Given the description of an element on the screen output the (x, y) to click on. 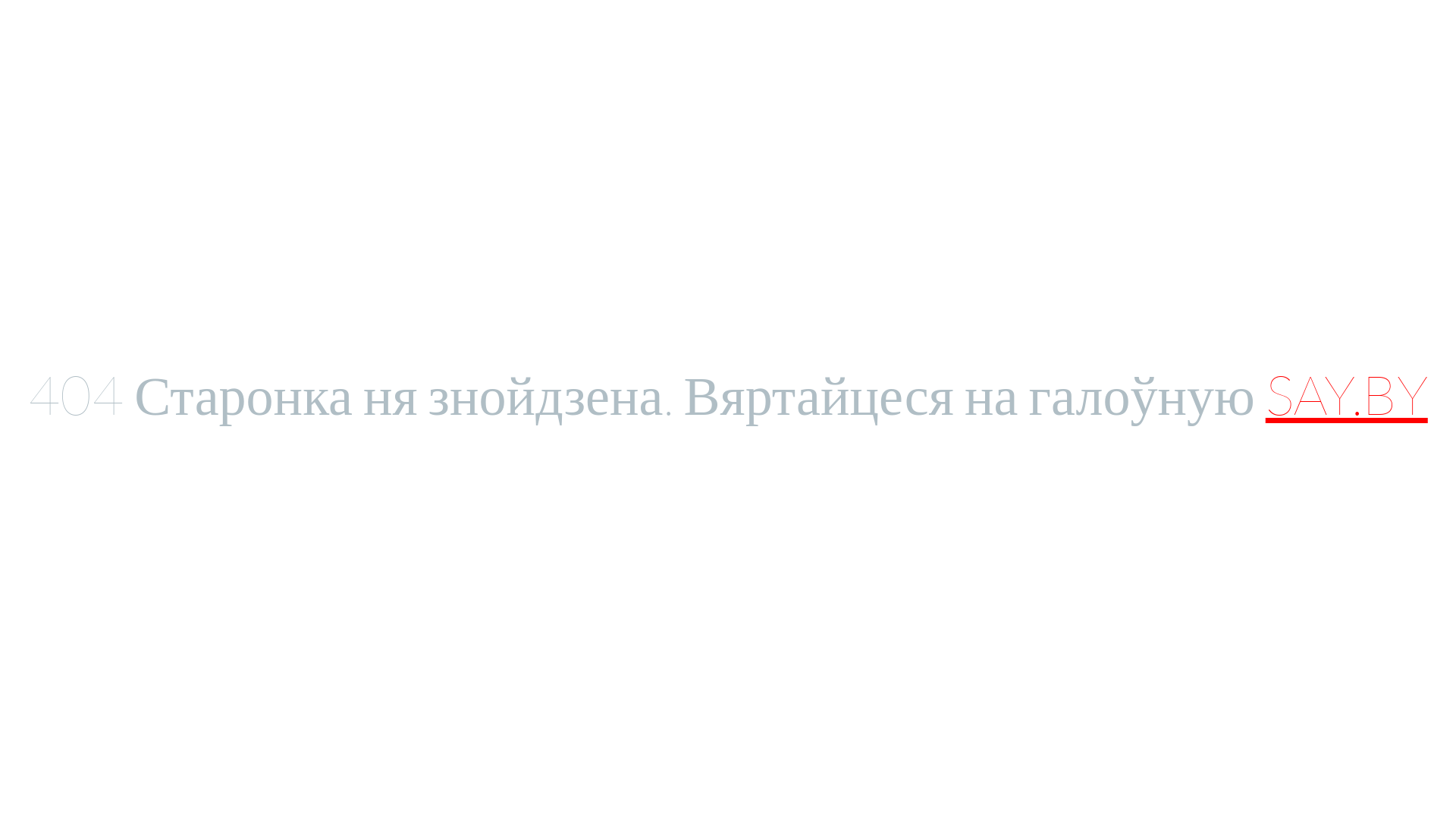
SAY.BY Element type: text (1346, 393)
